Given the description of an element on the screen output the (x, y) to click on. 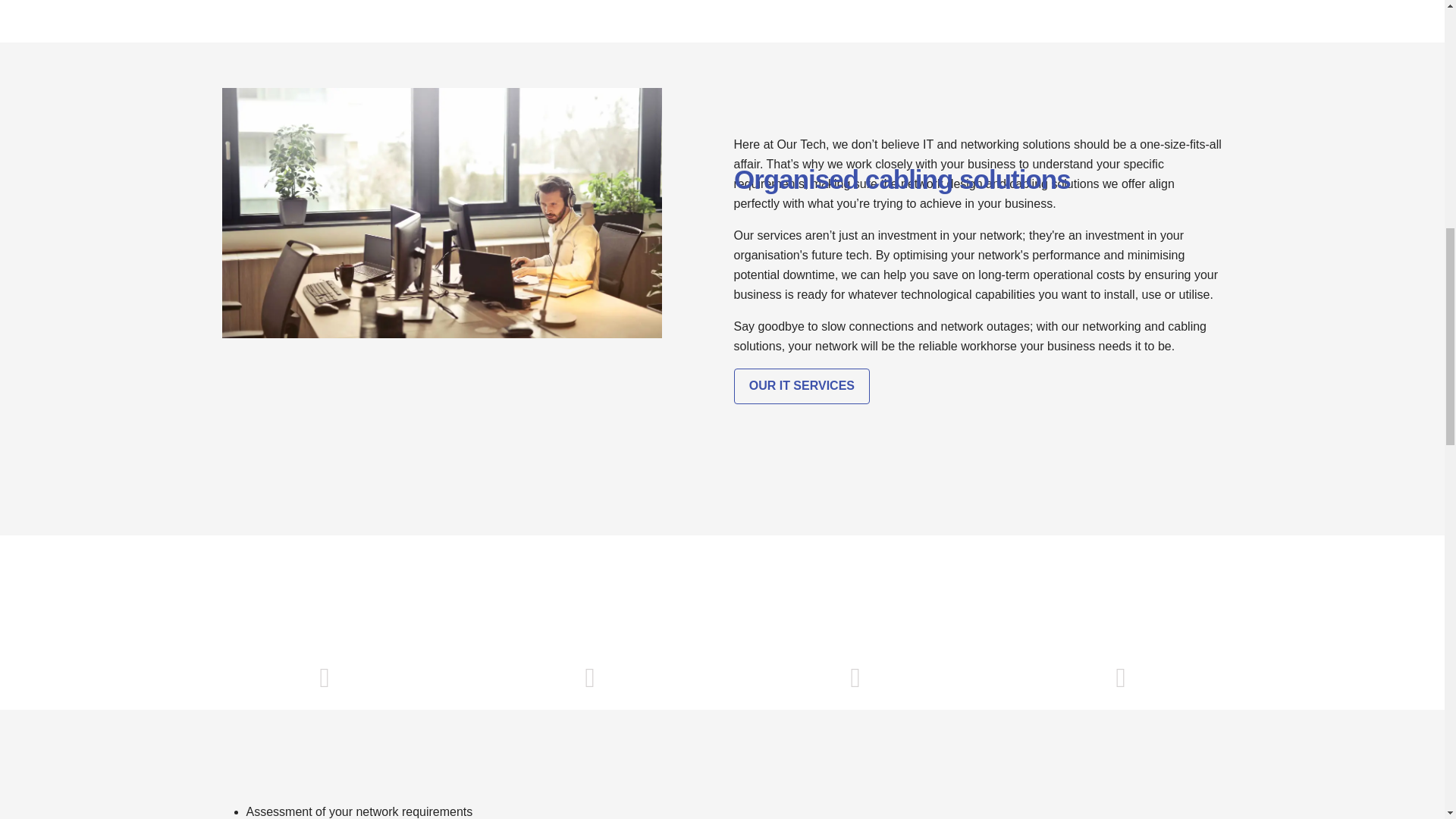
OUR IT SERVICES (801, 386)
